Given the description of an element on the screen output the (x, y) to click on. 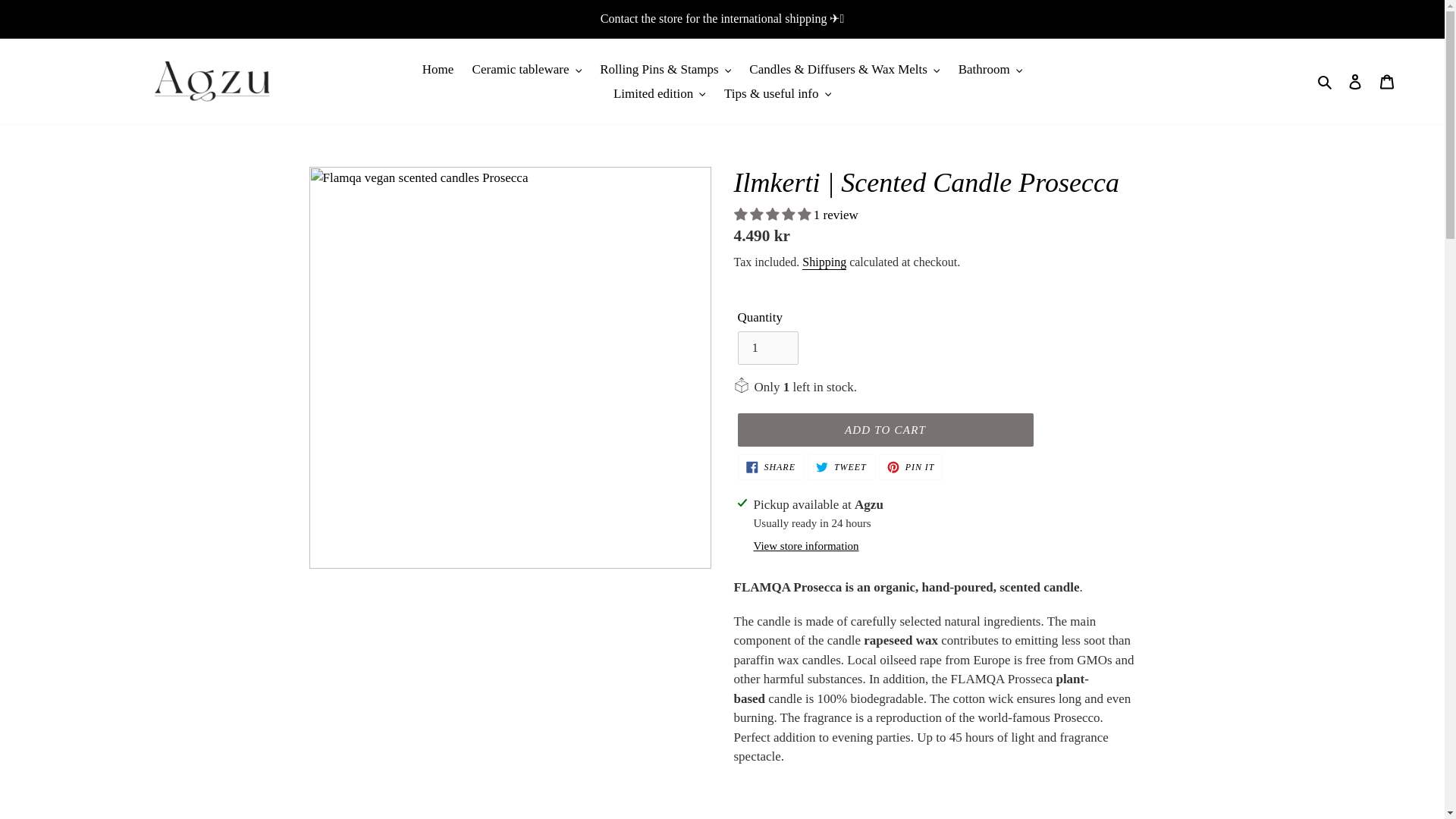
1 (766, 347)
Ceramic tableware (526, 69)
Home (437, 69)
